Given the description of an element on the screen output the (x, y) to click on. 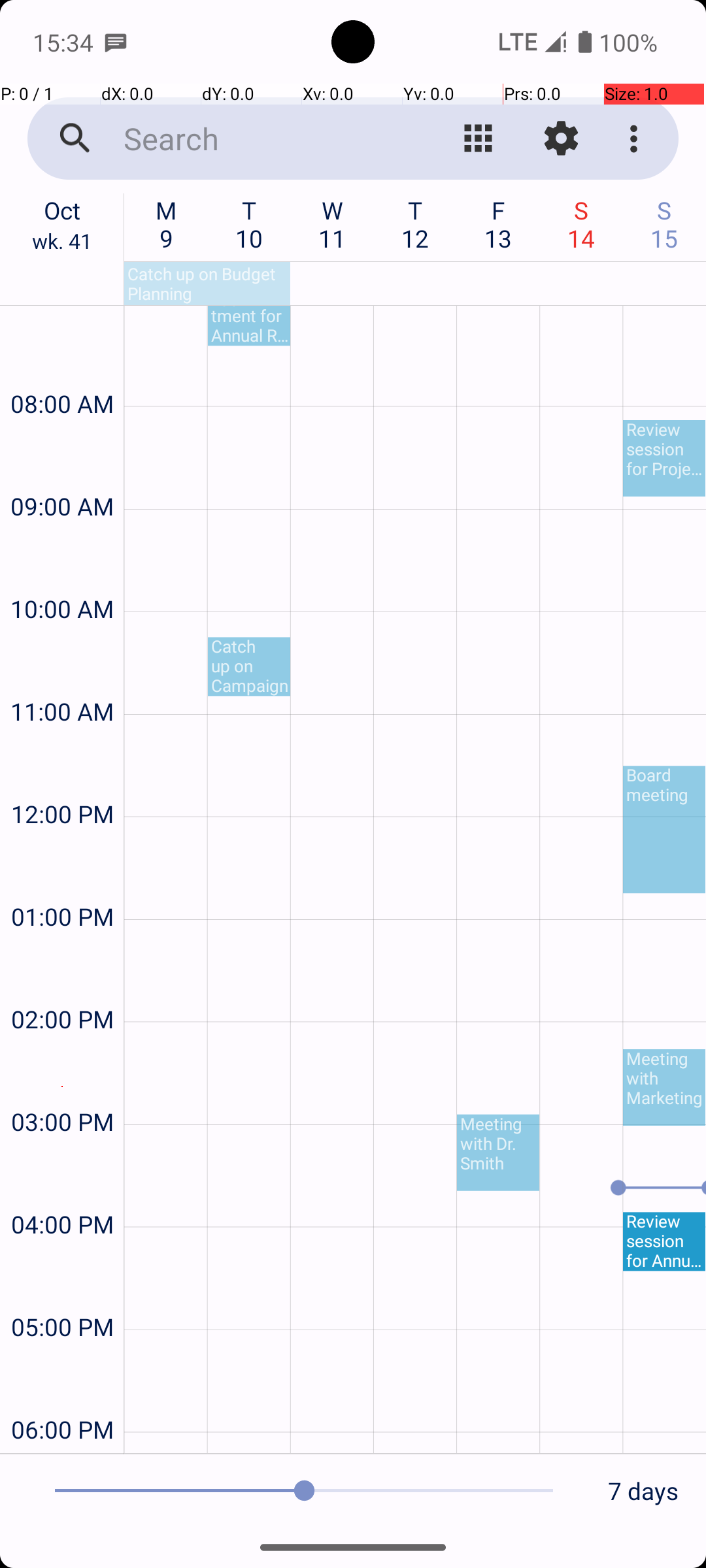
08:00 AM Element type: android.widget.TextView (62, 368)
09:00 AM Element type: android.widget.TextView (62, 471)
10:00 AM Element type: android.widget.TextView (62, 573)
11:00 AM Element type: android.widget.TextView (62, 676)
12:00 PM Element type: android.widget.TextView (62, 778)
01:00 PM Element type: android.widget.TextView (62, 881)
02:00 PM Element type: android.widget.TextView (62, 983)
03:00 PM Element type: android.widget.TextView (62, 1086)
04:00 PM Element type: android.widget.TextView (62, 1189)
05:00 PM Element type: android.widget.TextView (62, 1291)
06:00 PM Element type: android.widget.TextView (62, 1394)
07:00 PM Element type: android.widget.TextView (62, 1449)
Board meeting Element type: android.widget.TextView (663, 829)
